Given the description of an element on the screen output the (x, y) to click on. 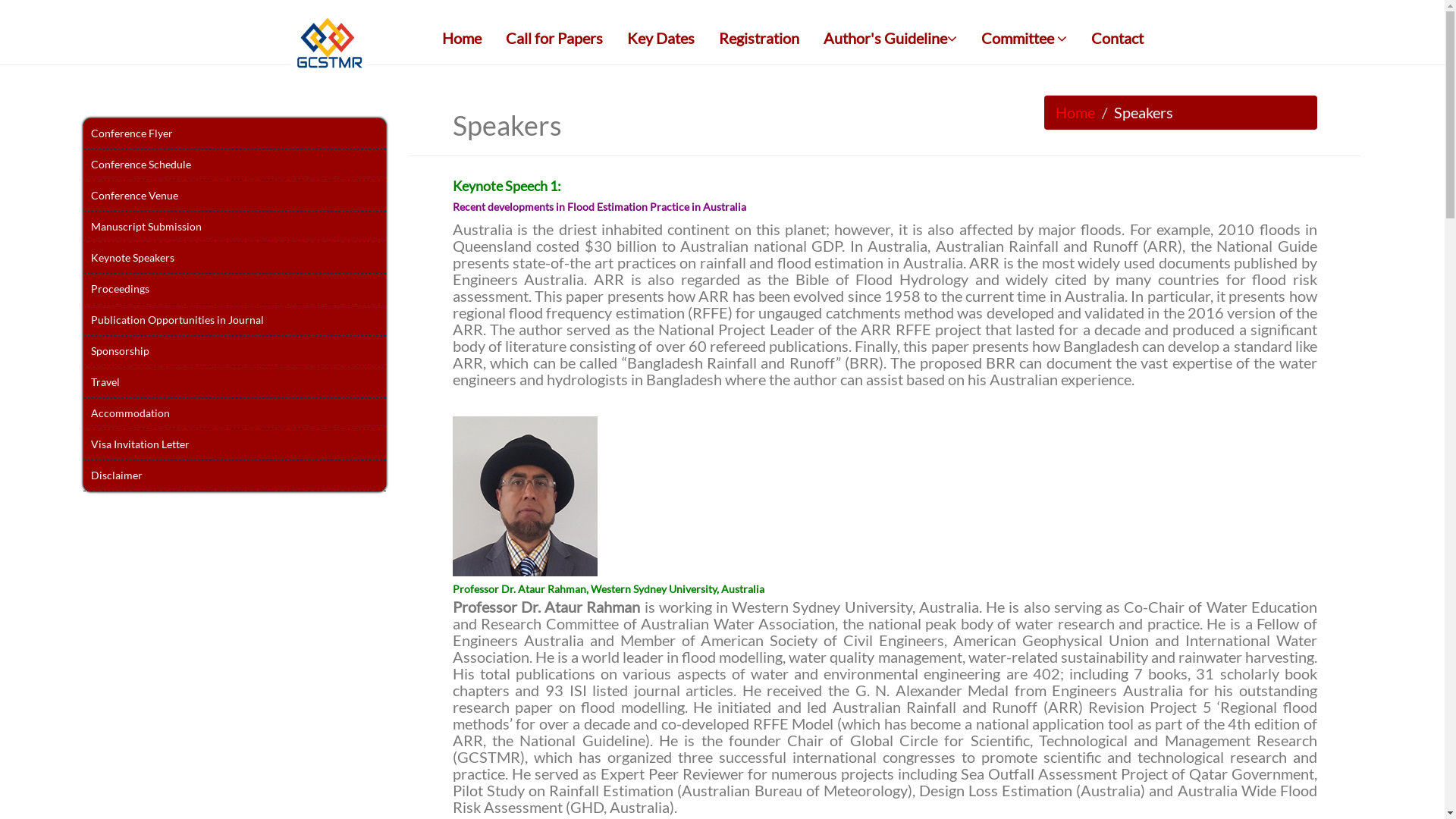
Key Dates Element type: text (660, 37)
Conference Venue Element type: text (234, 195)
Sponsorship Element type: text (234, 351)
Committee Element type: text (1023, 37)
Author's Guideline Element type: text (889, 37)
Disclaimer Element type: text (234, 475)
Home Element type: text (1075, 112)
Travel Element type: text (234, 382)
Proceedings Element type: text (234, 288)
Home Element type: text (461, 37)
Keynote Speakers Element type: text (234, 257)
Registration Element type: text (757, 37)
Manuscript Submission Element type: text (234, 226)
Contact Element type: text (1116, 37)
Call for Papers Element type: text (554, 37)
Conference Schedule Element type: text (234, 164)
Conference Flyer Element type: text (234, 133)
Visa Invitation Letter Element type: text (234, 444)
Accommodation Element type: text (234, 413)
Publication Opportunities in Journal Element type: text (234, 319)
